Given the description of an element on the screen output the (x, y) to click on. 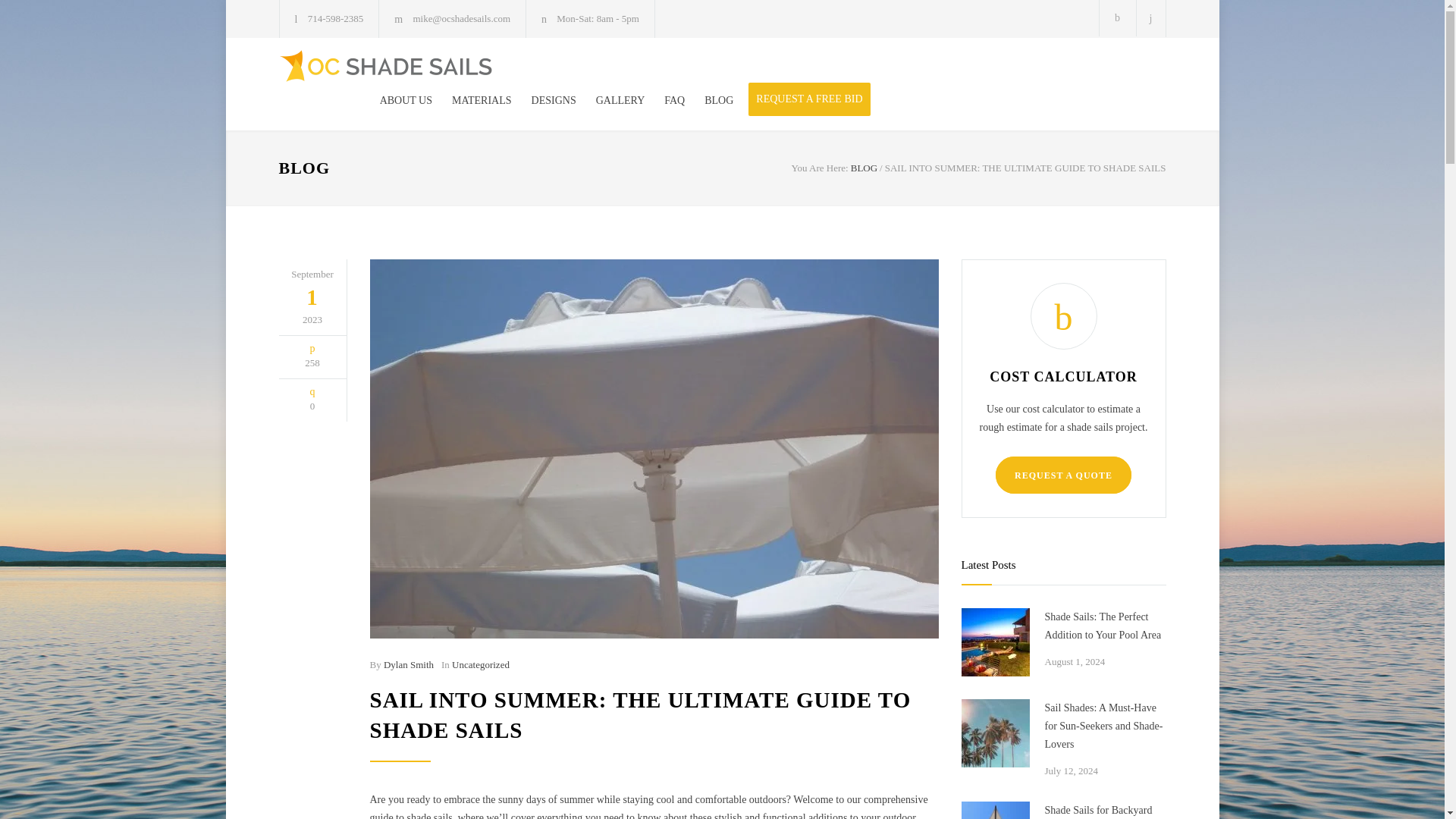
MATERIALS (472, 100)
REQUEST A QUOTE (1063, 474)
BLOG (863, 167)
ABOUT US (406, 100)
BLOG (304, 167)
DESIGNS (544, 100)
OC Shade Sails (419, 65)
BLOG (708, 100)
REQUEST A FREE BID (808, 99)
GALLERY (610, 100)
